Given the description of an element on the screen output the (x, y) to click on. 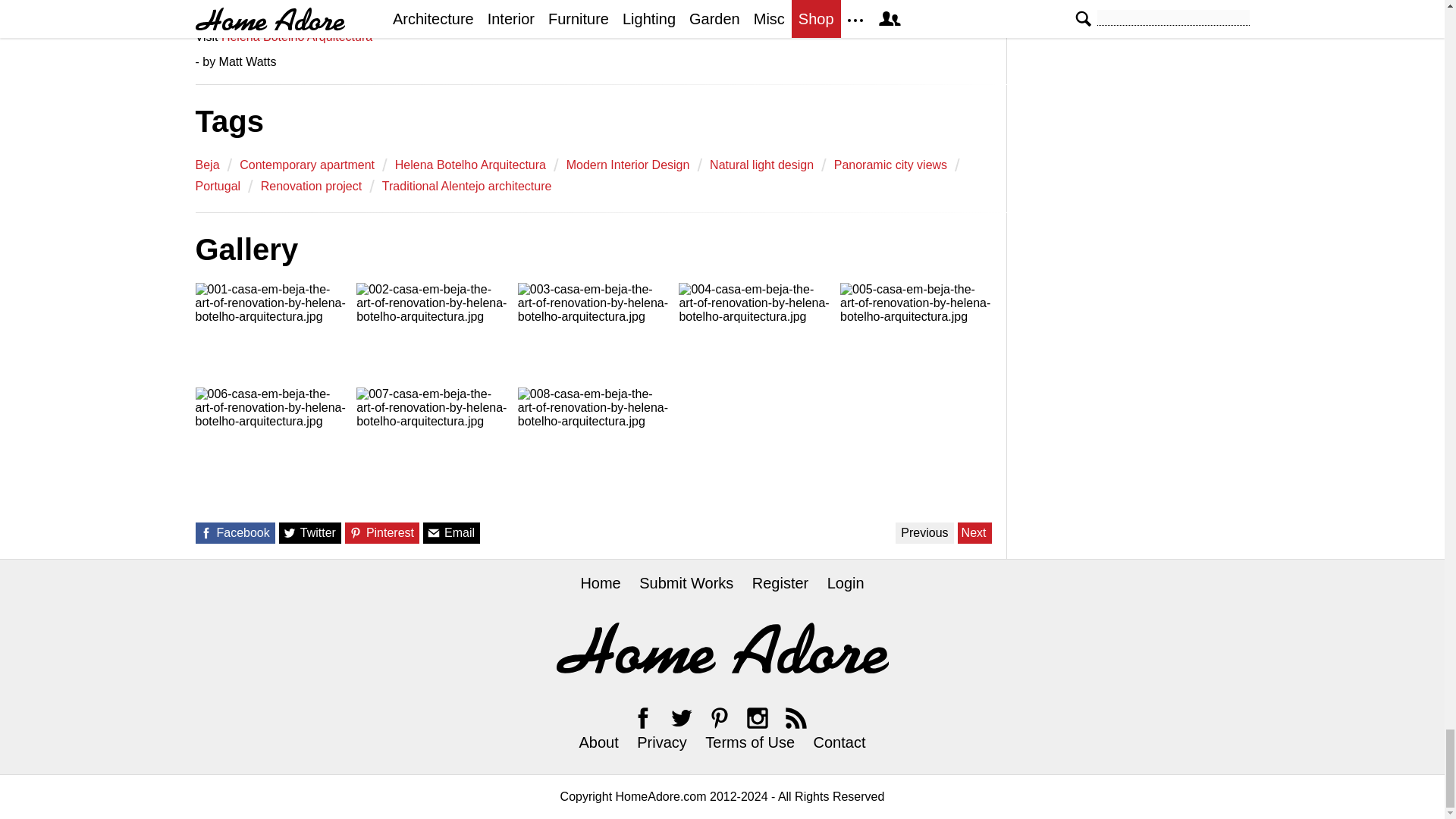
Share with a Friend (433, 532)
Share on Twitter (289, 532)
traditional Alentejo architecture (466, 186)
renovation project (310, 186)
Portugal (218, 186)
HomeAdore (722, 648)
Helena Botelho Arquitectura (470, 164)
Twitter (681, 718)
Modern Interior Design (628, 164)
contemporary apartment (307, 164)
